Given the description of an element on the screen output the (x, y) to click on. 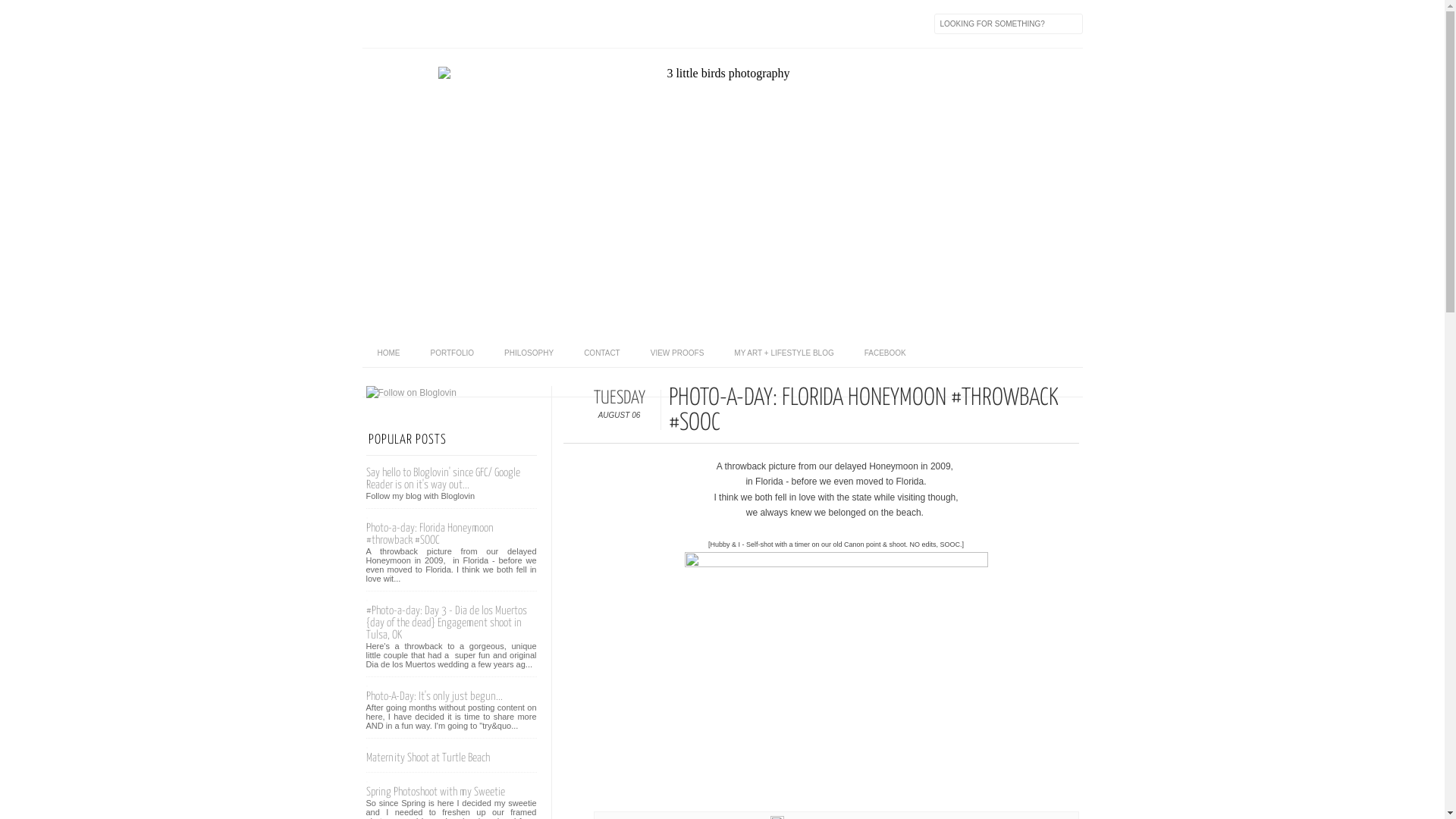
Feed Element type: text (374, 23)
HOME Element type: text (388, 353)
Instagram Element type: text (565, 23)
Follow 3 little birds photography on Bloglovin Element type: hover (410, 392)
PORTFOLIO Element type: text (452, 353)
GPlus Element type: text (470, 23)
VIEW PROOFS Element type: text (677, 353)
PHILOSOPHY Element type: text (528, 353)
MY ART + LIFESTYLE BLOG Element type: text (783, 353)
Maternity Shoot at Turtle Beach Element type: text (427, 757)
Facebook Element type: text (406, 23)
Photo-A-Day: It's only just begun... Element type: text (433, 696)
FACEBOOK Element type: text (885, 353)
Photo-a-day: Florida Honeymoon #throwback #SOOC Element type: text (428, 534)
Youtube Element type: text (501, 23)
CONTACT Element type: text (601, 353)
Twitter Element type: text (438, 23)
Spring Photoshoot with my Sweetie Element type: text (434, 791)
flickr Element type: text (533, 23)
